Given the description of an element on the screen output the (x, y) to click on. 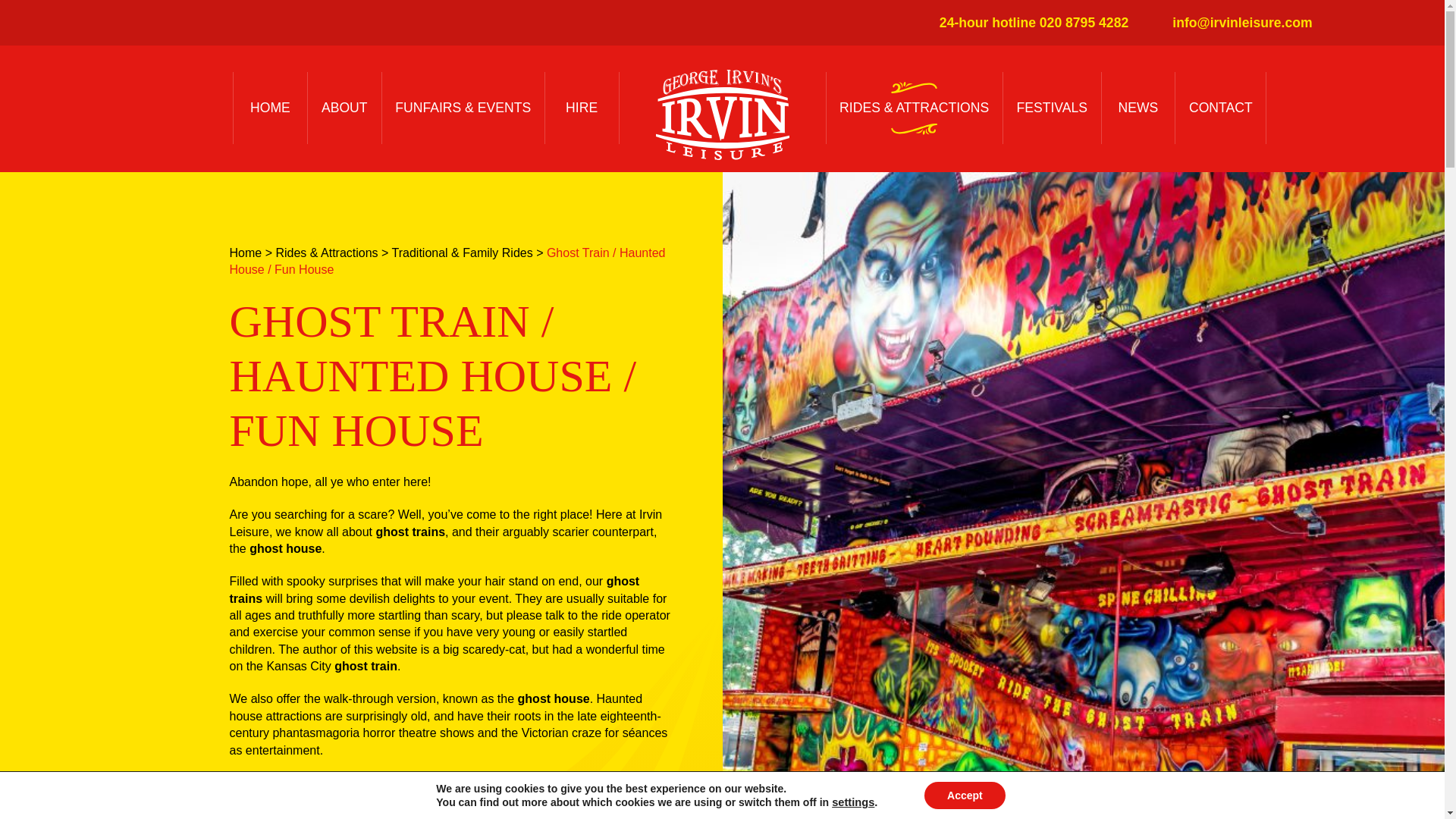
HOME (269, 107)
24-hour hotline 020 8795 4282 (1024, 22)
Instagram (1408, 22)
HIRE (581, 107)
ABOUT (344, 107)
Home (245, 252)
FESTIVALS (1051, 107)
CONTACT (1219, 107)
Facebook (1378, 22)
Twitter (1347, 22)
NEWS (1138, 107)
